Given the description of an element on the screen output the (x, y) to click on. 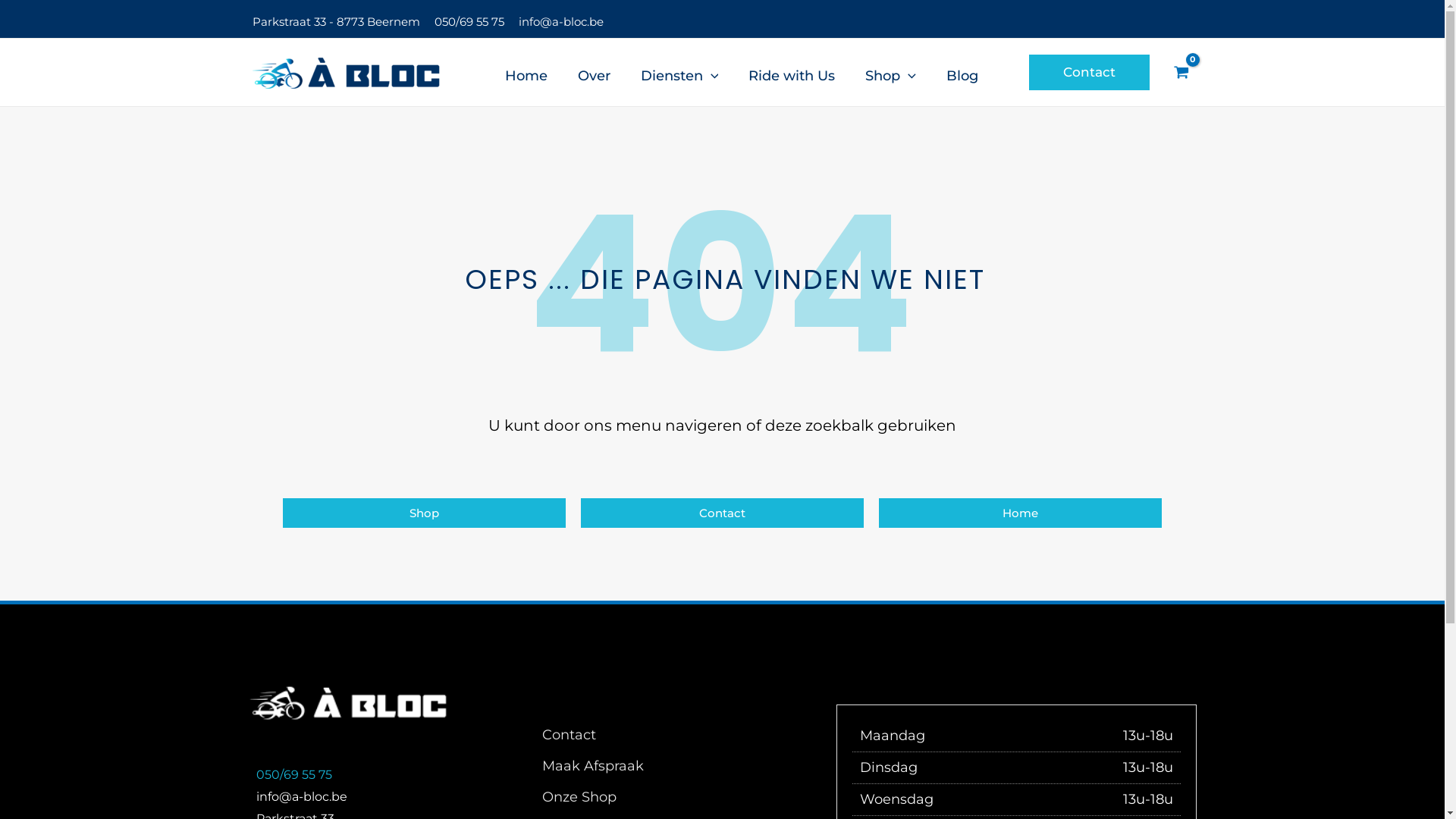
Onze Shop Element type: text (579, 801)
Contact Element type: text (721, 512)
Diensten Element type: text (678, 72)
Ride with Us Element type: text (791, 72)
050/69 55 75 Element type: text (468, 21)
Blog Element type: text (962, 72)
Shop Element type: text (890, 72)
050/69 55 75 Element type: text (294, 774)
Home Element type: text (1019, 512)
Contact Element type: text (569, 739)
Shop Element type: text (423, 512)
Over Element type: text (593, 72)
Home Element type: text (525, 72)
info@a-bloc.be Element type: text (560, 21)
Contact Element type: text (1089, 72)
Maak Afspraak Element type: text (592, 770)
